Given the description of an element on the screen output the (x, y) to click on. 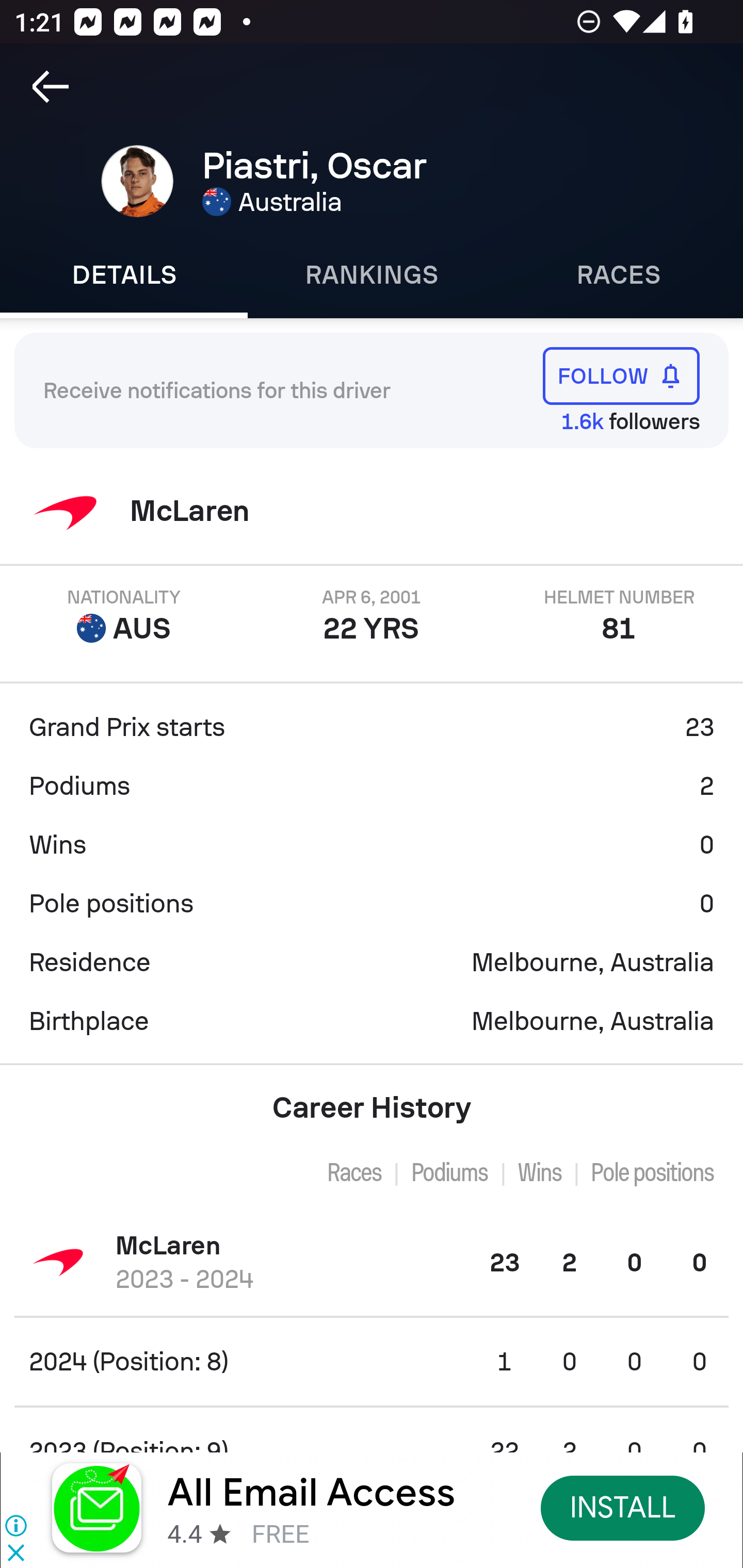
Navigate up (50, 86)
Rankings RANKINGS (371, 275)
Races RACES (619, 275)
FOLLOW (621, 375)
NATIONALITY AUS (123, 616)
Grand Prix starts 23 (371, 727)
Podiums 2 (371, 786)
Wins 0 (371, 844)
Pole positions 0 (371, 903)
Residence Melbourne, Australia (371, 962)
Birthplace Melbourne, Australia (371, 1021)
McLaren 2023 - 2024 23 2 0 0 (371, 1261)
2024 (Position: 8) 1 0 0 0 (371, 1360)
All Email Access (311, 1493)
INSTALL (623, 1507)
